Given the description of an element on the screen output the (x, y) to click on. 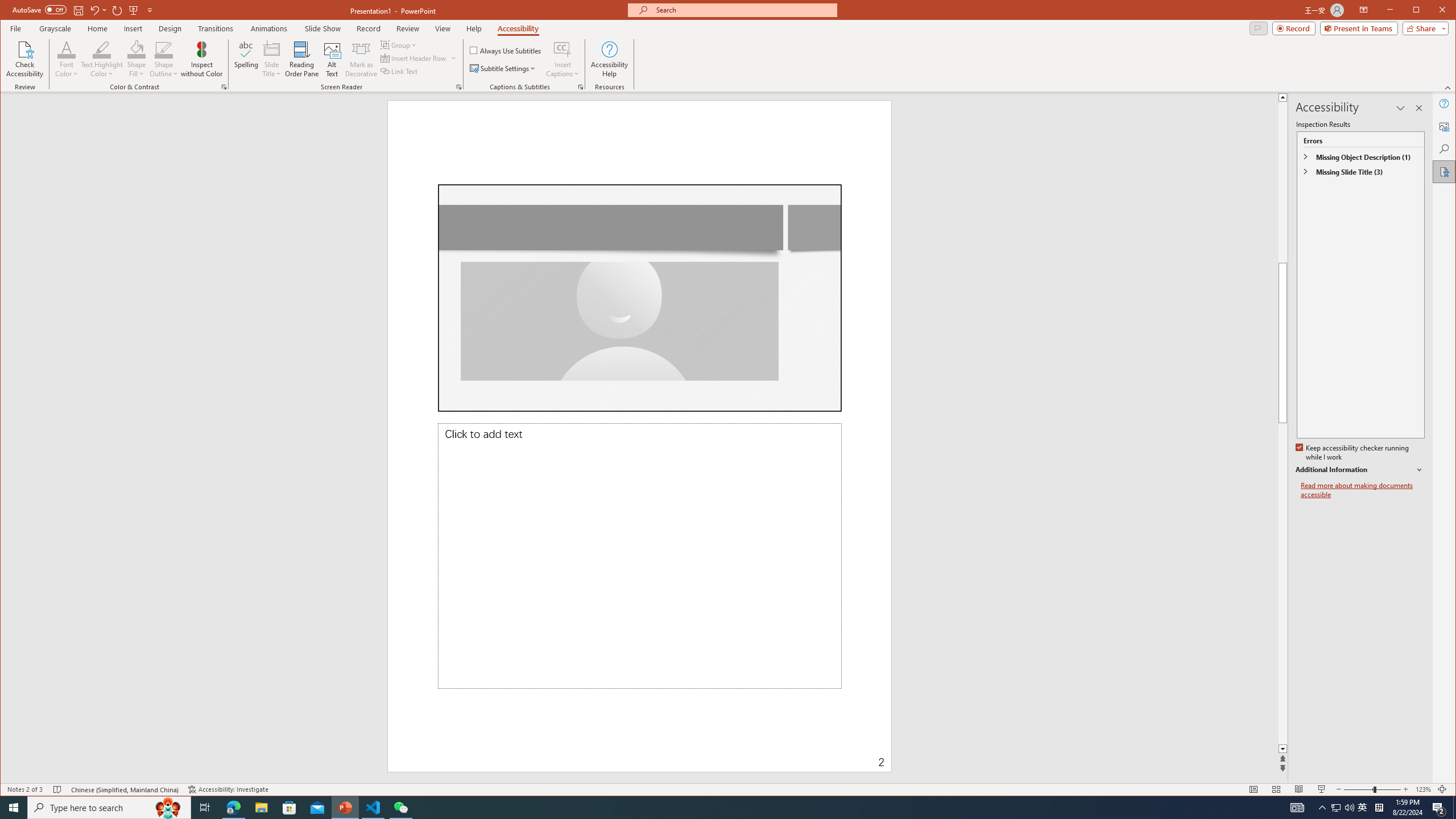
Subtitle Settings (502, 68)
Shape Outline Blue, Accent 1 (163, 48)
Reading Order Pane (301, 59)
Insert Header Row (413, 57)
Running applications (707, 807)
